Given the description of an element on the screen output the (x, y) to click on. 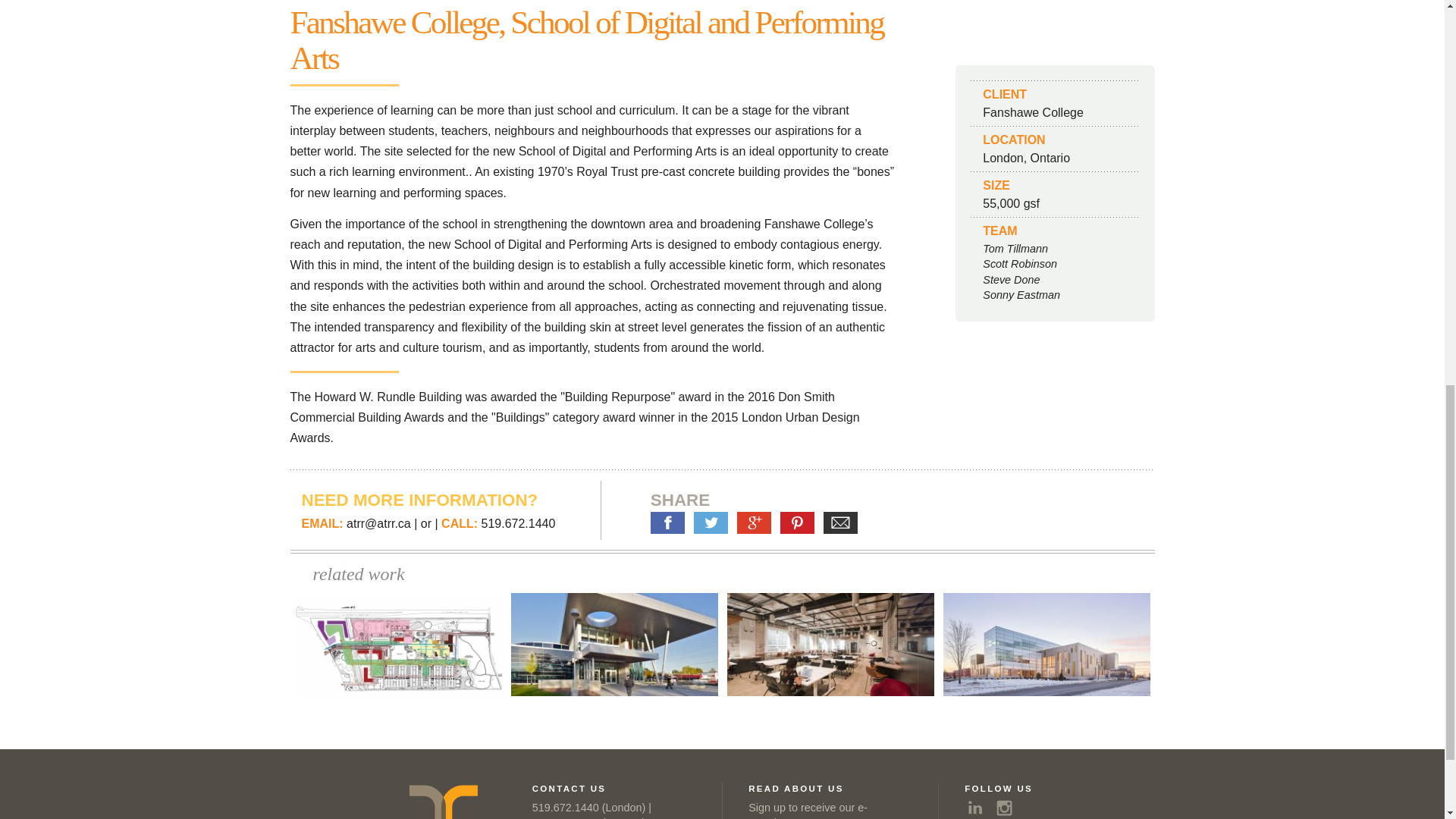
LinkedIn (974, 809)
Twitter (711, 522)
Pinterest (796, 522)
Email (840, 522)
Facebook (667, 522)
